Given the description of an element on the screen output the (x, y) to click on. 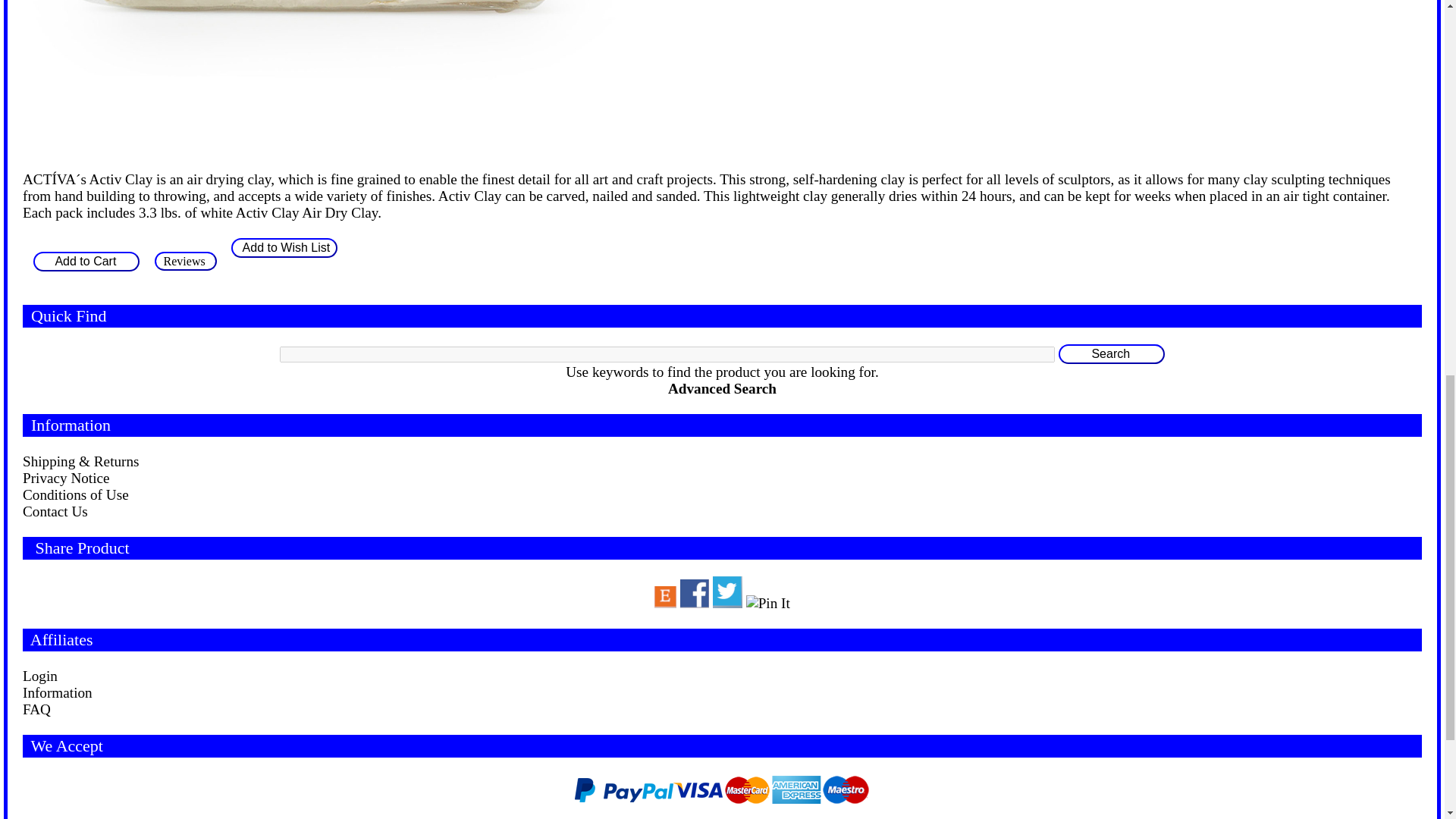
Share on Facebook (694, 593)
Share on Twitter (727, 592)
Share via E-Mail (665, 597)
Pin It (767, 603)
